Given the description of an element on the screen output the (x, y) to click on. 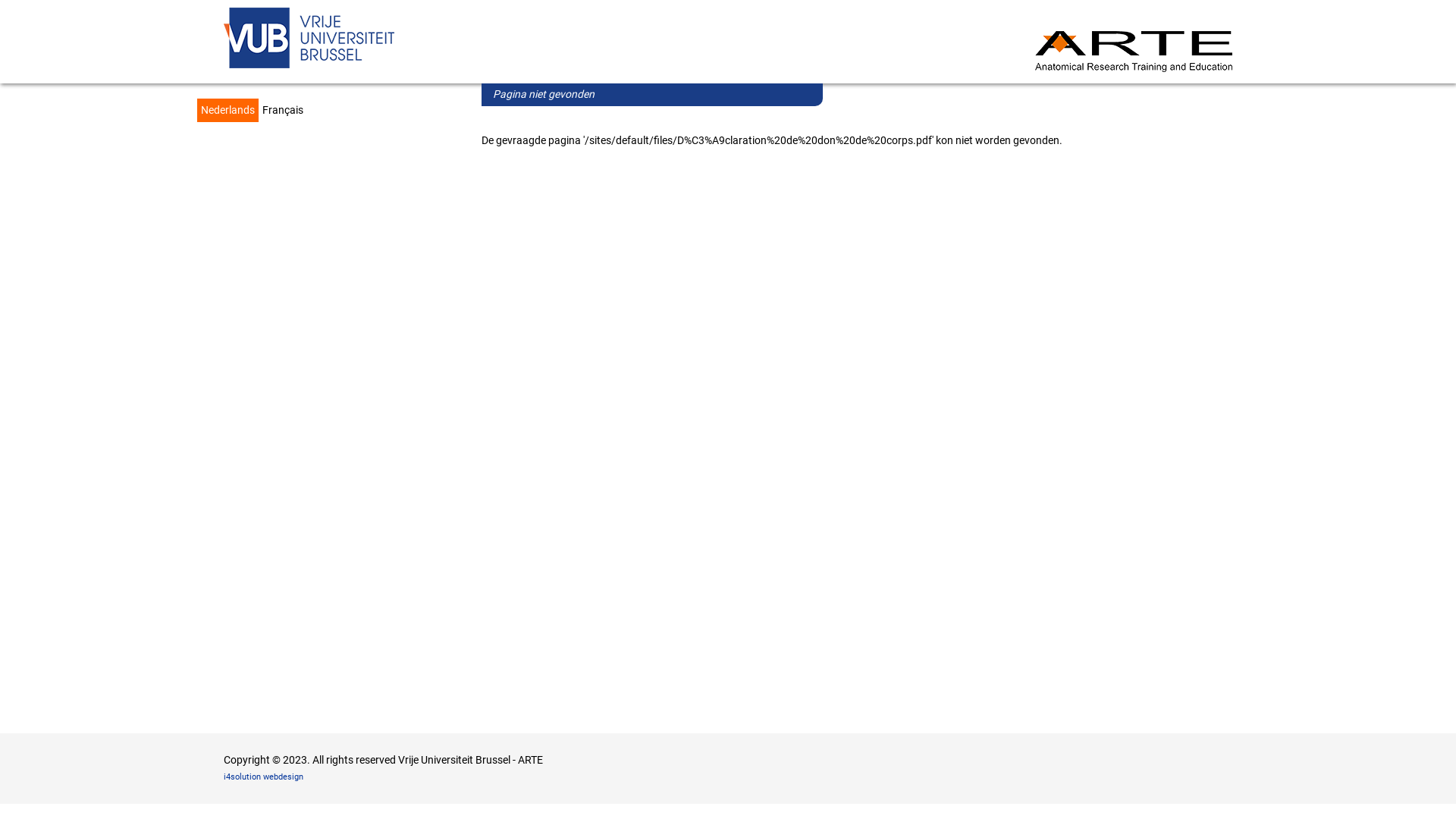
Nederlands Element type: text (227, 110)
i4solution webdesign Element type: text (263, 776)
